Given the description of an element on the screen output the (x, y) to click on. 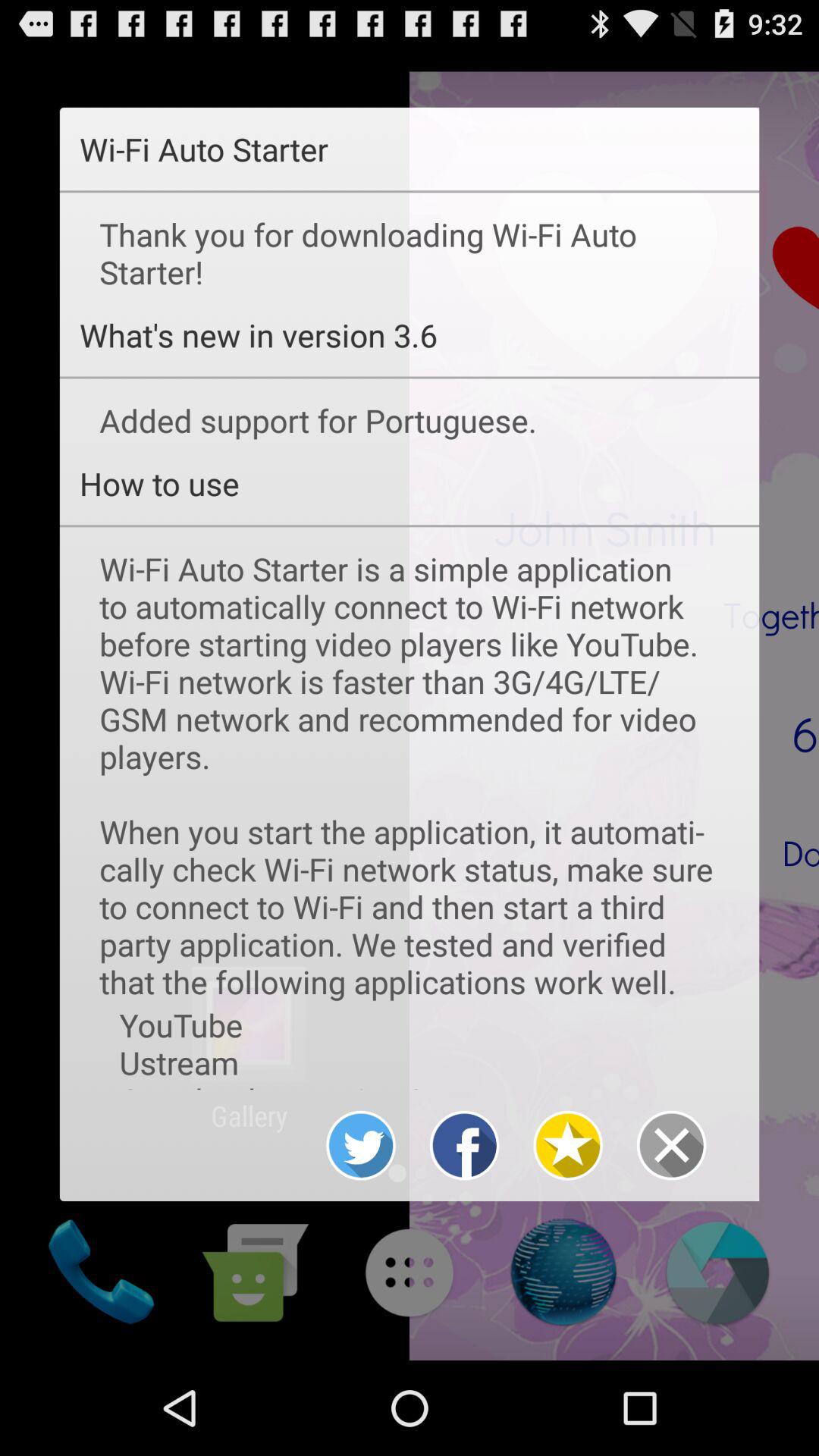
select bookmark icon on the page (568, 1144)
